Given the description of an element on the screen output the (x, y) to click on. 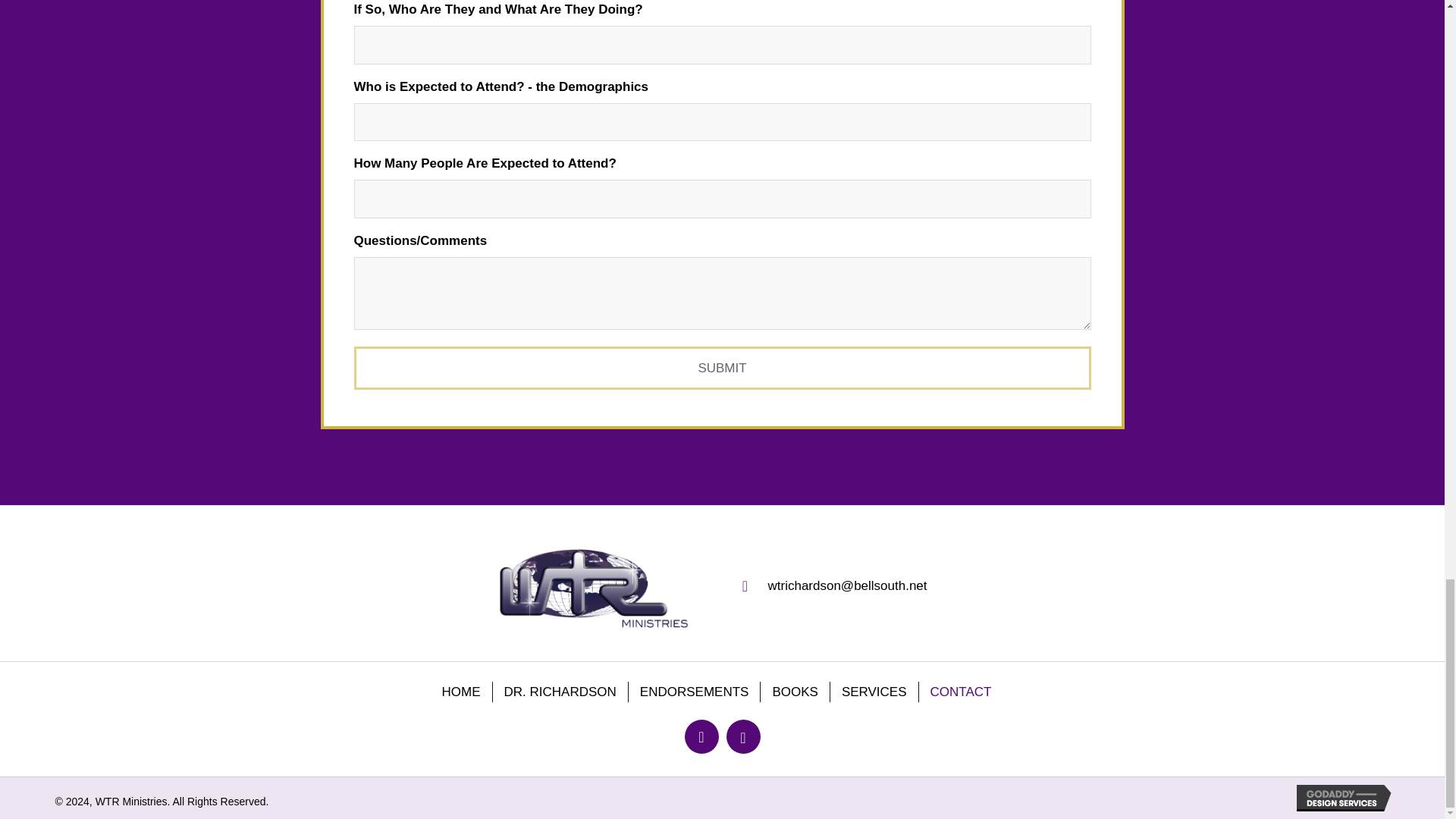
CONTACT (960, 691)
HOME (461, 691)
SERVICES (873, 691)
Submit (721, 367)
BOOKS (794, 691)
DR. RICHARDSON (560, 691)
Facebook (700, 736)
YouTube (743, 736)
ENDORSEMENTS (694, 691)
